Given the description of an element on the screen output the (x, y) to click on. 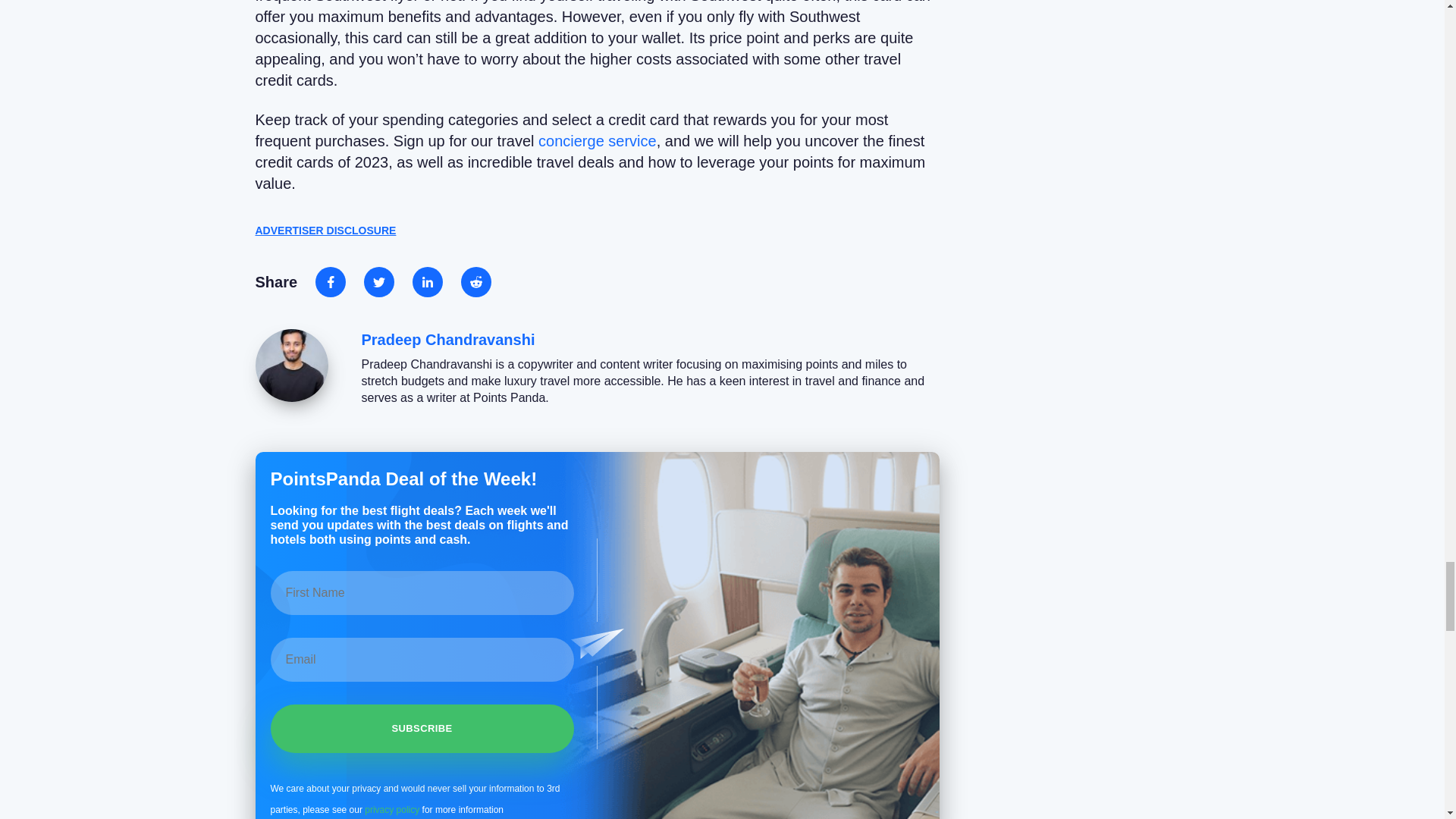
Posts by Pradeep Chandravanshi (447, 339)
Subscribe (421, 728)
